Given the description of an element on the screen output the (x, y) to click on. 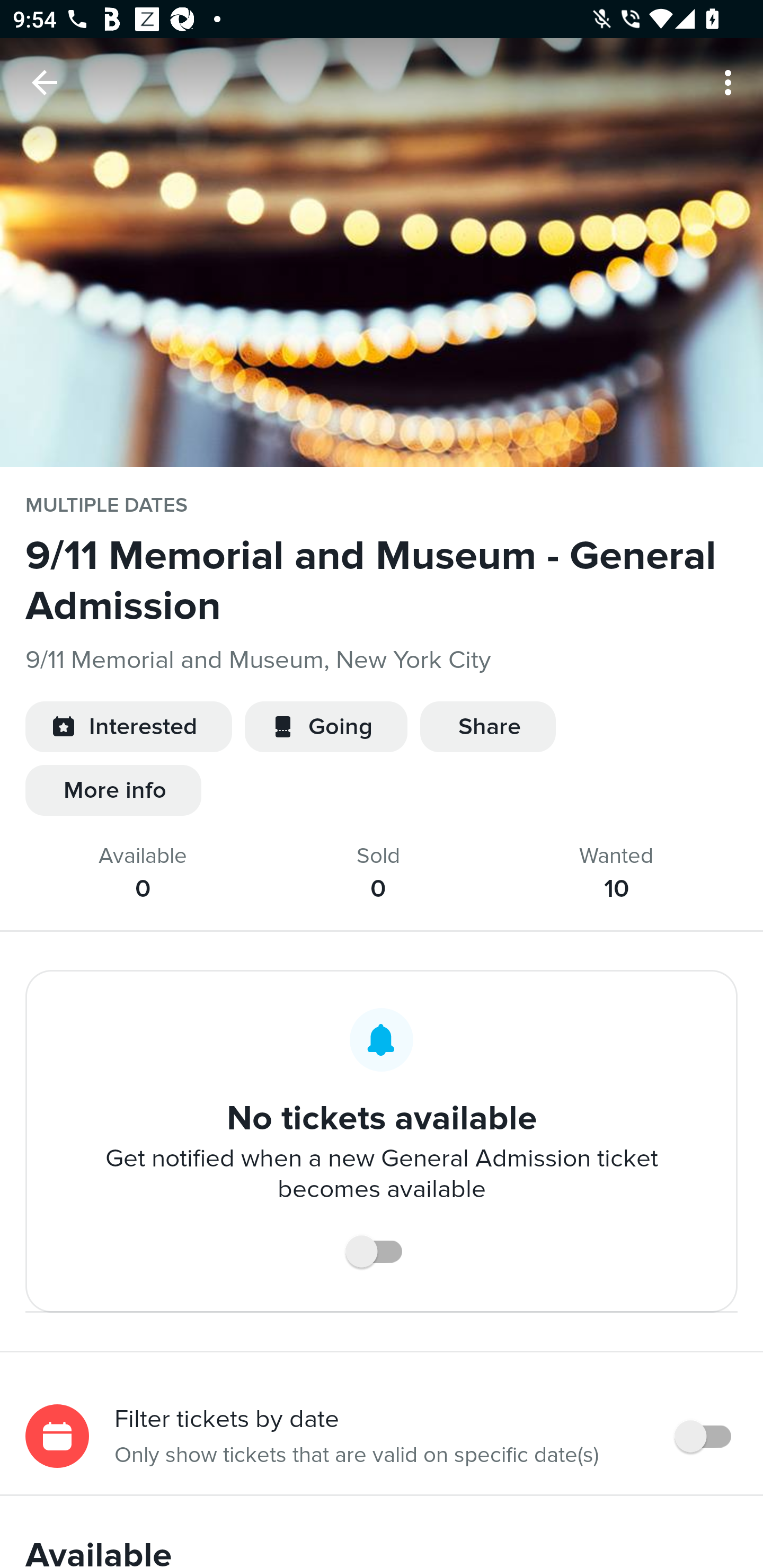
Navigate up (44, 82)
More options (731, 81)
Interested (128, 726)
Going (325, 726)
Share (487, 726)
More info (113, 790)
